Given the description of an element on the screen output the (x, y) to click on. 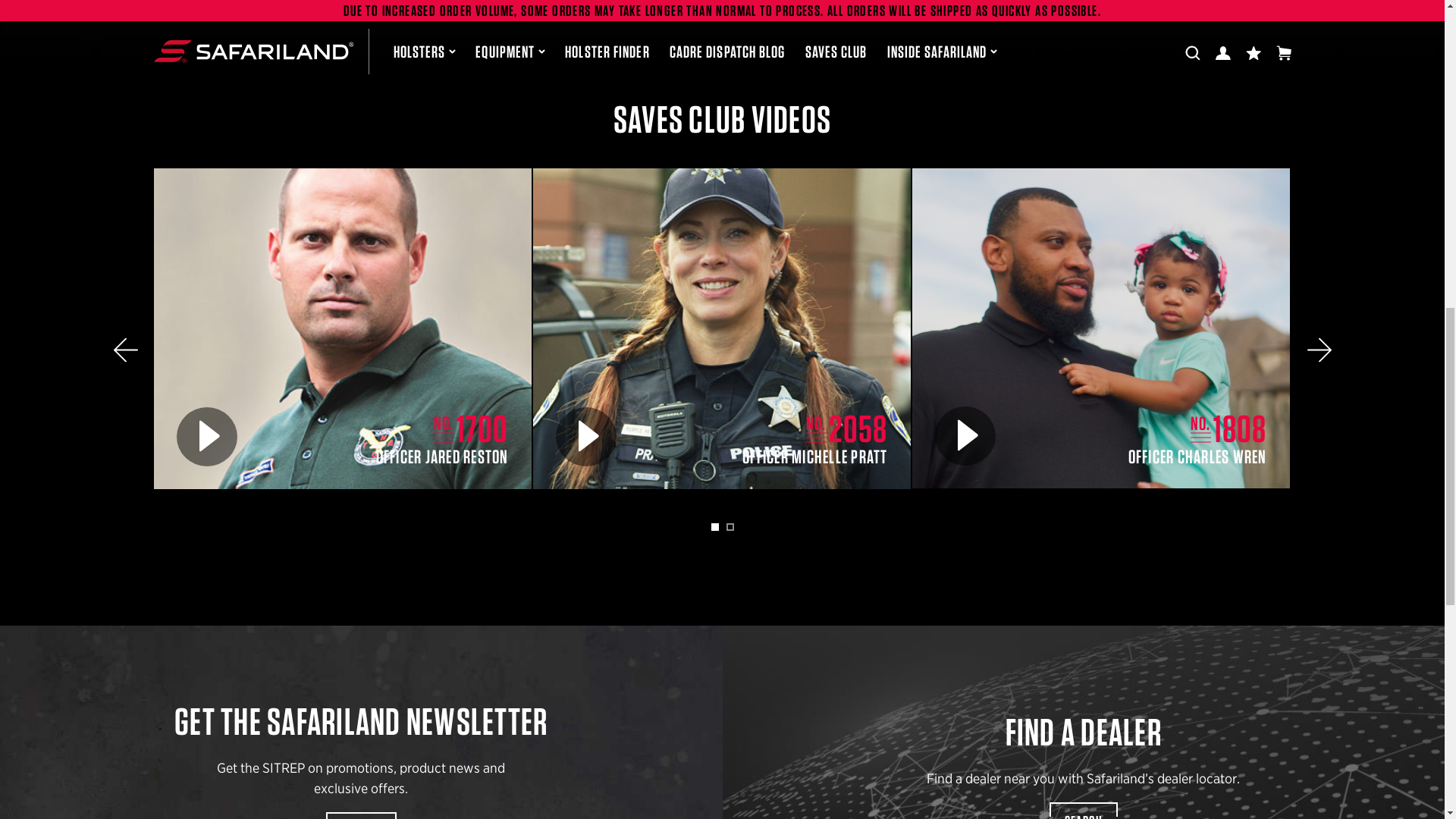
Number (443, 428)
Number (1201, 428)
Number (816, 428)
